Given the description of an element on the screen output the (x, y) to click on. 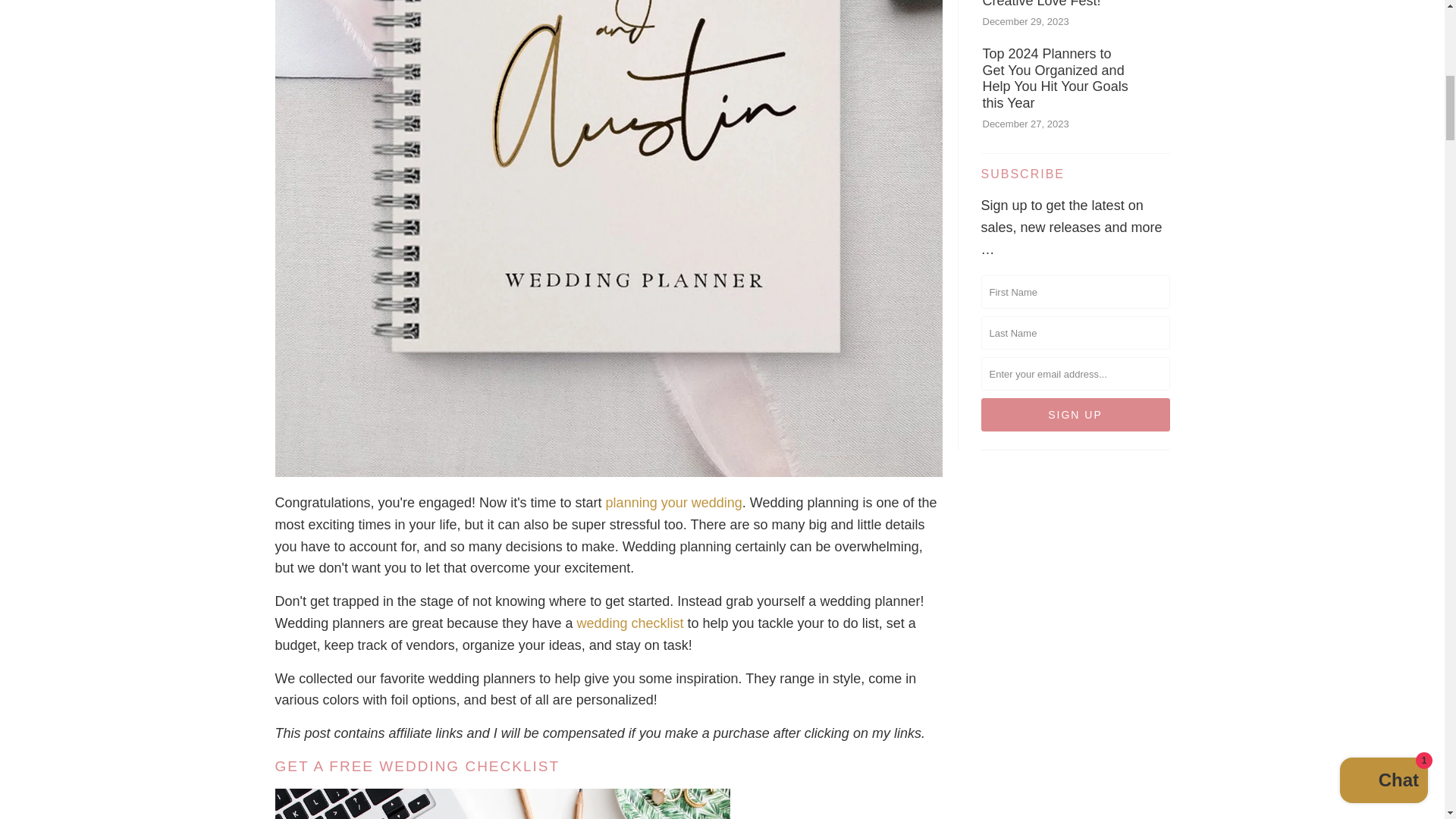
Wedding Planning (673, 502)
Sign Up (1075, 414)
